Given the description of an element on the screen output the (x, y) to click on. 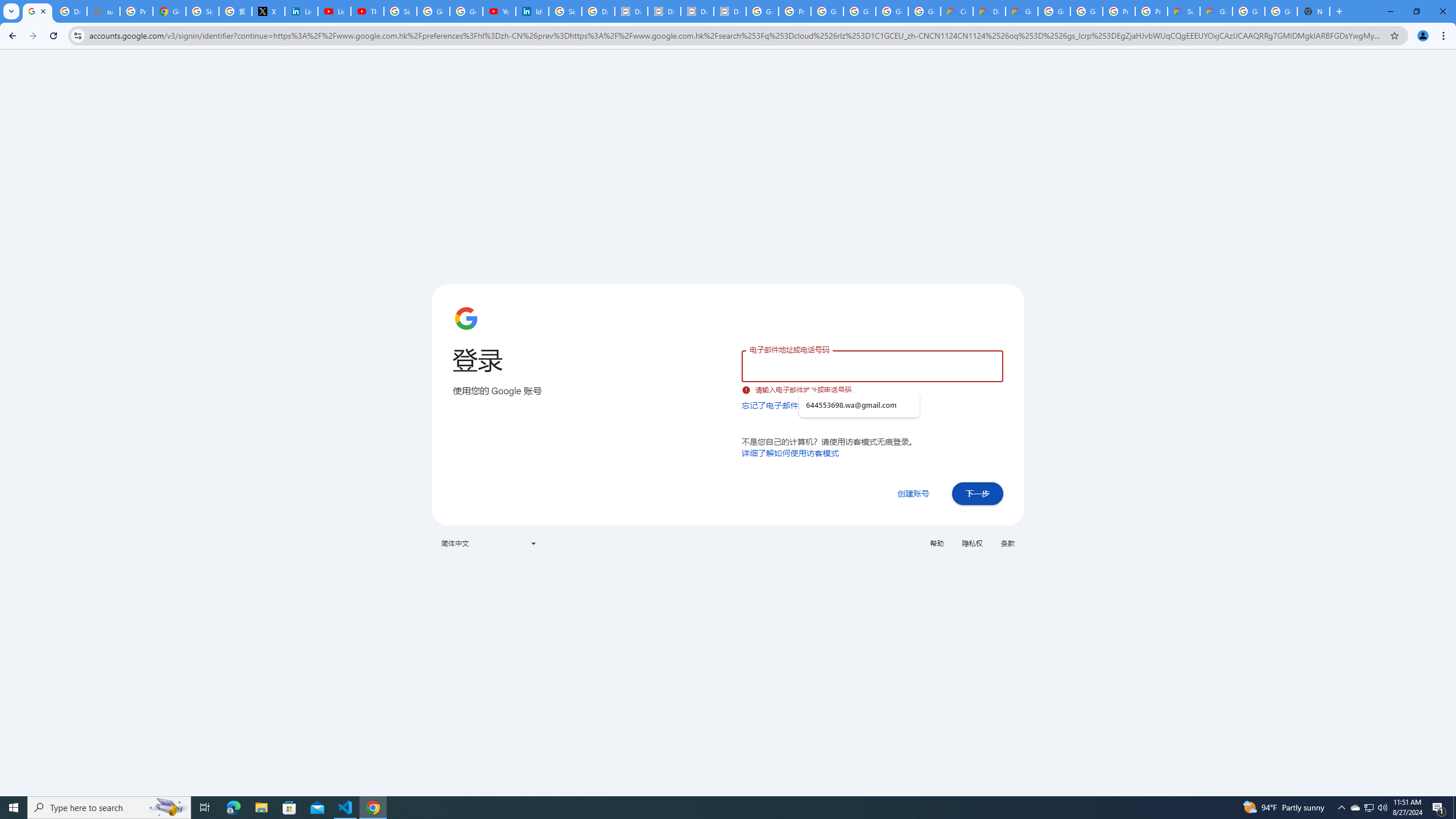
Data Privacy Framework (663, 11)
Privacy Help Center - Policies Help (136, 11)
support.google.com - Network error (103, 11)
Google Cloud Service Health (1216, 11)
Google Cloud Platform (1281, 11)
Google Cloud Platform (1053, 11)
